Given the description of an element on the screen output the (x, y) to click on. 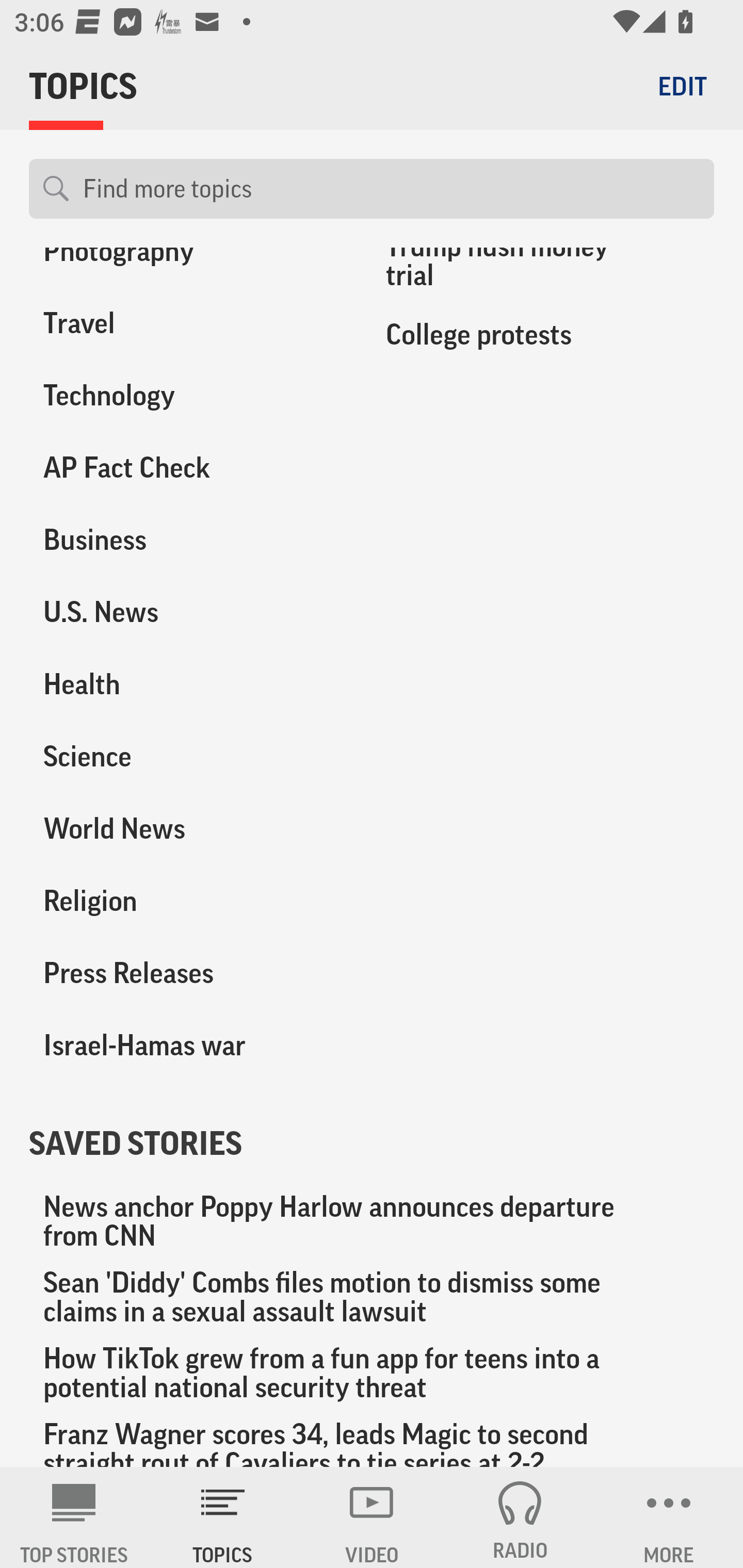
EDIT (682, 86)
Find more topics (391, 188)
Travel (185, 322)
College protests (542, 334)
Technology (185, 395)
AP Fact Check (185, 467)
Business (185, 539)
U.S. News (185, 611)
Health (185, 684)
Science (185, 757)
World News (185, 829)
Religion (185, 901)
Press Releases (185, 973)
Israel-Hamas war (185, 1045)
AP News TOP STORIES (74, 1517)
TOPICS (222, 1517)
VIDEO (371, 1517)
RADIO (519, 1517)
MORE (668, 1517)
